Given the description of an element on the screen output the (x, y) to click on. 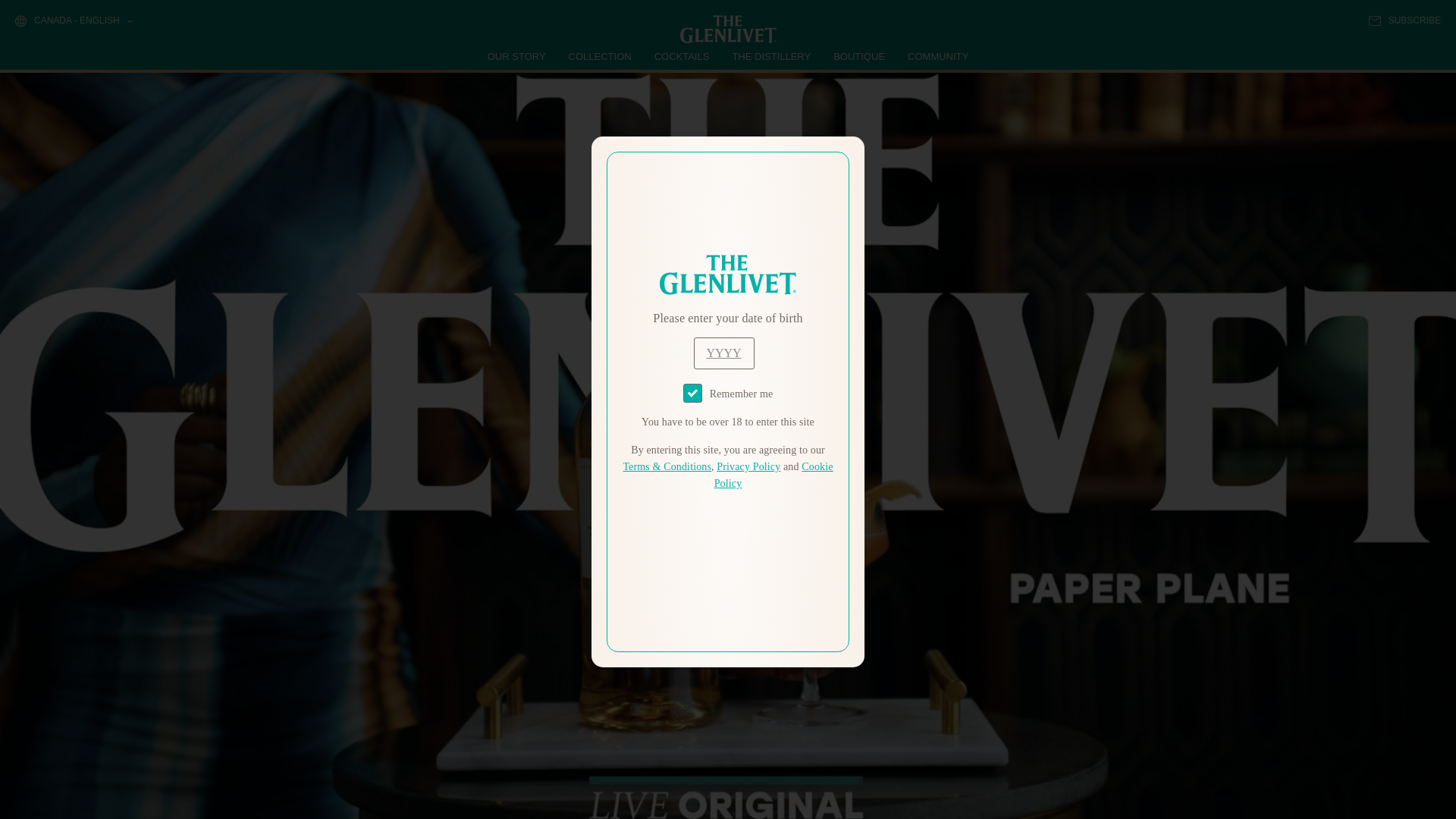
SUBSCRIBE (1404, 20)
year (723, 353)
Cookie Policy (773, 474)
BOUTIQUE (858, 56)
THE DISTILLERY (771, 56)
COLLECTION (600, 56)
OUR STORY (516, 56)
COCKTAILS (681, 56)
COMMUNITY (937, 56)
CANADA - ENGLISH (73, 21)
